Given the description of an element on the screen output the (x, y) to click on. 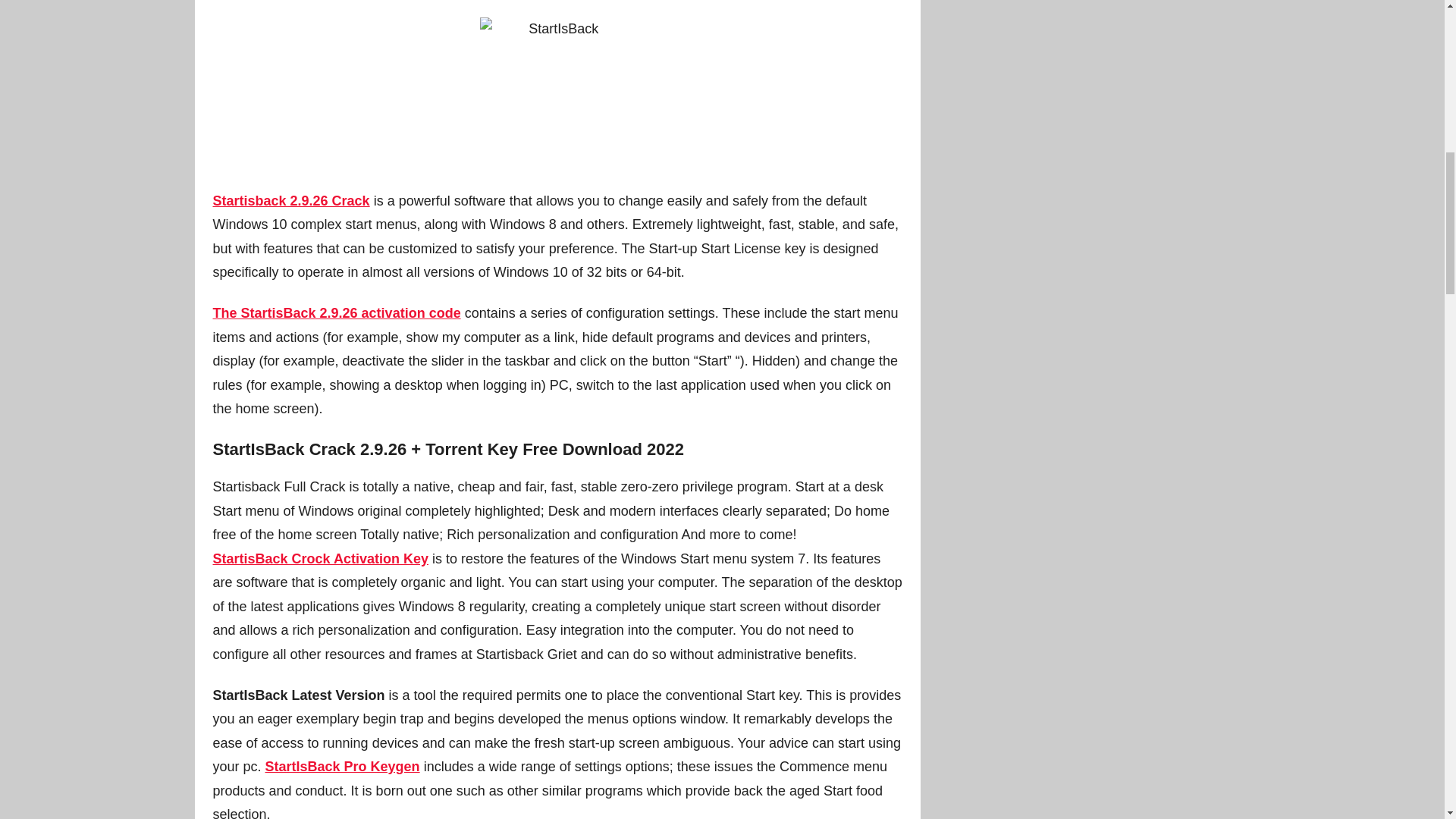
Startisback 2.9.26 Crack (290, 200)
The StartisBack 2.9.26 activation code (336, 313)
StartisBack Crock Activation Key (320, 558)
